Given the description of an element on the screen output the (x, y) to click on. 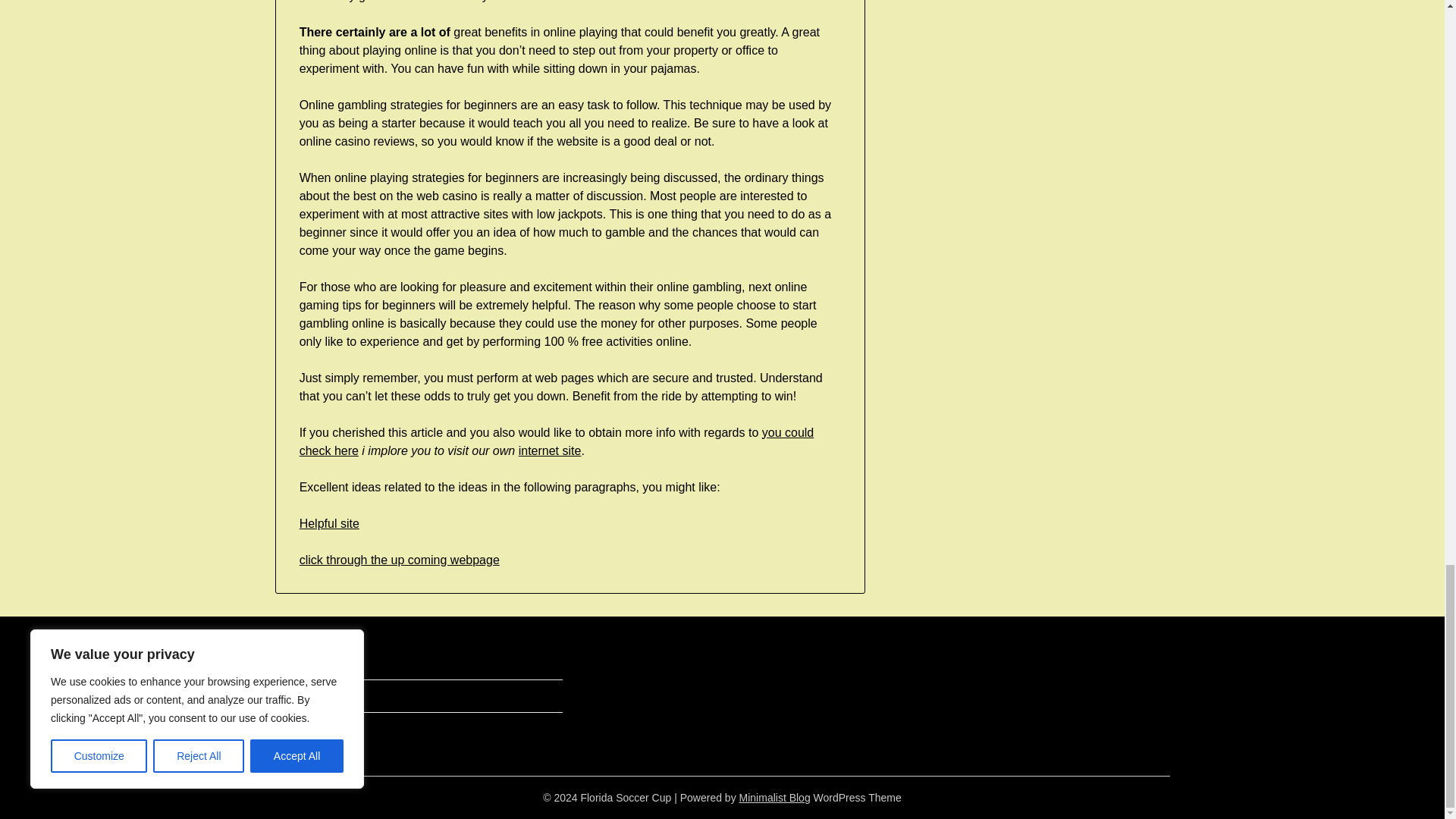
you could check here (556, 441)
click through the up coming webpage (399, 559)
Helpful site (329, 522)
internet site (549, 450)
